Given the description of an element on the screen output the (x, y) to click on. 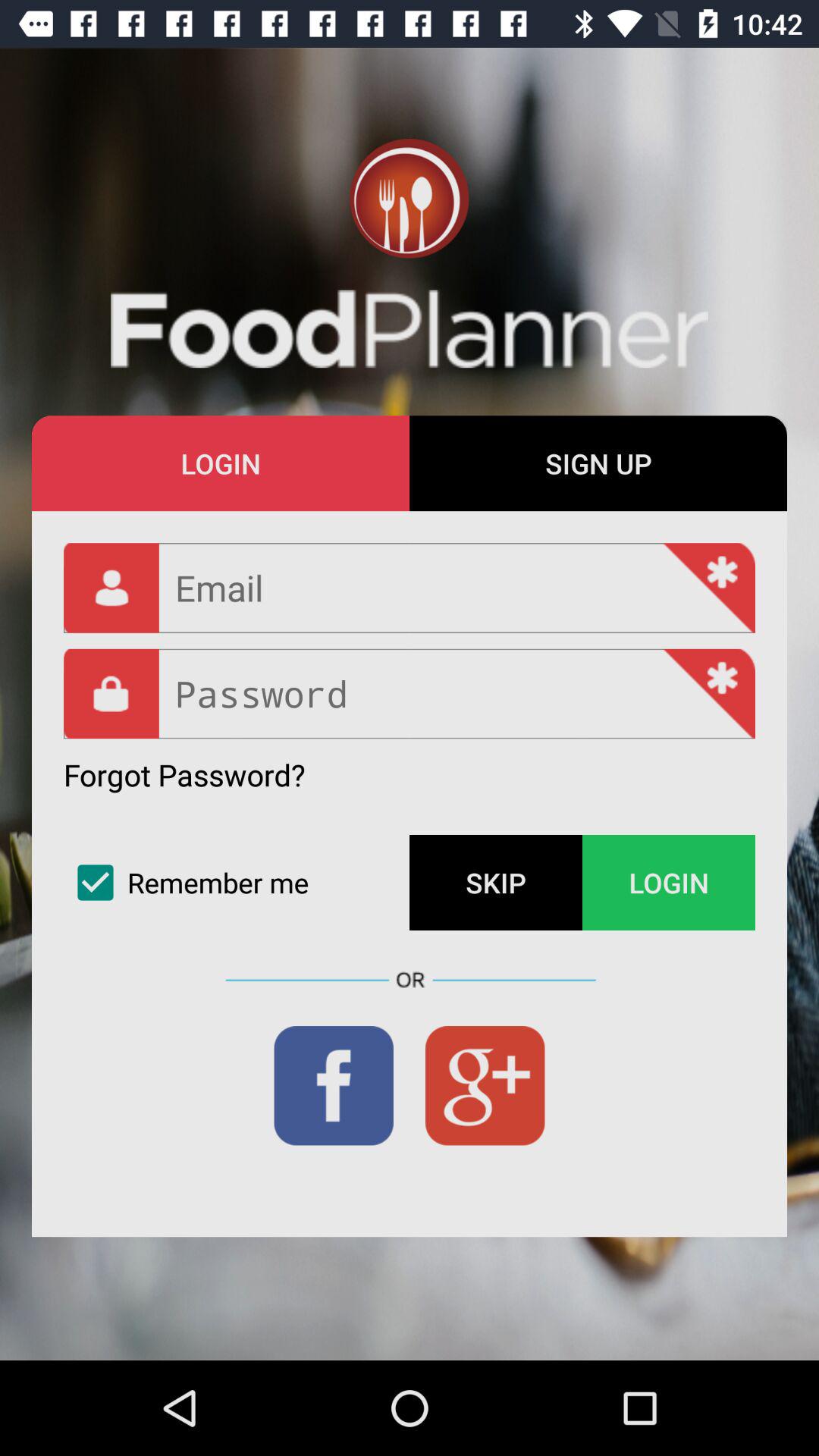
swipe until the forgot password? item (184, 774)
